Given the description of an element on the screen output the (x, y) to click on. 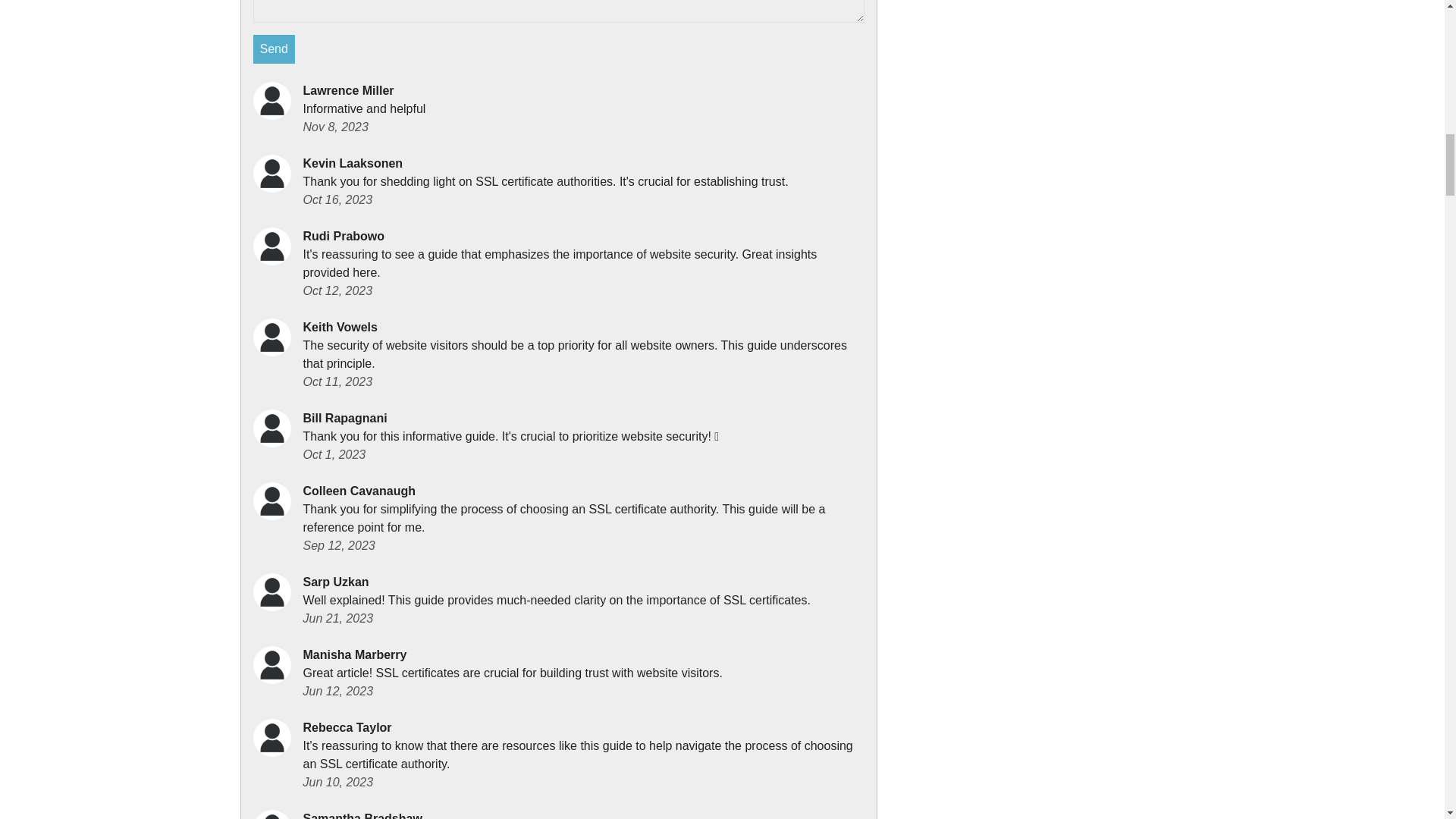
Send (274, 49)
Send (274, 49)
